Given the description of an element on the screen output the (x, y) to click on. 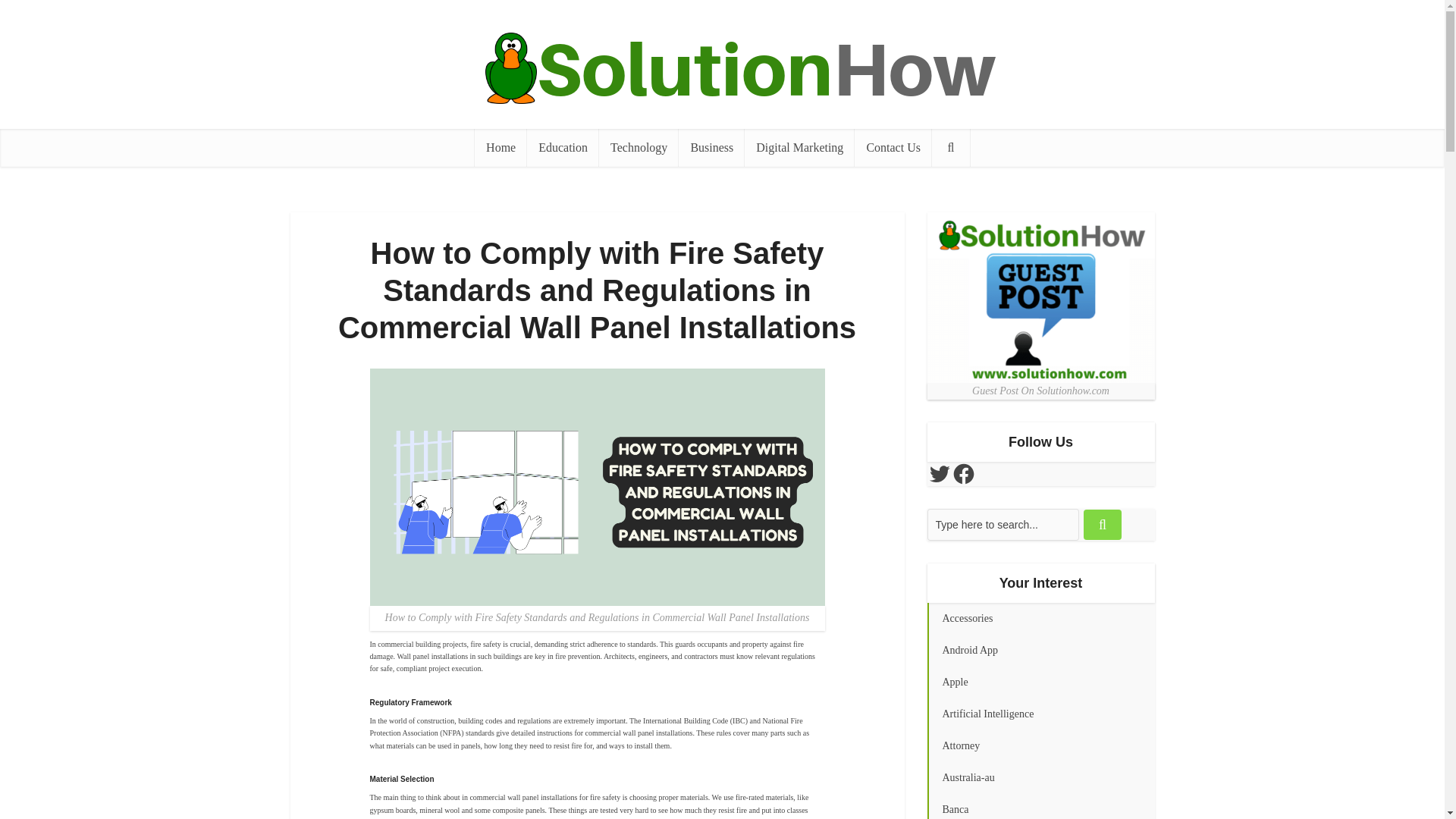
SolutionHow (721, 68)
Twitter (938, 473)
Apple (1040, 682)
Business (711, 147)
Digital Marketing (799, 147)
Education (562, 147)
Technology (638, 147)
Artificial Intelligence (1040, 714)
Accessories (1040, 618)
Type here to search... (1002, 524)
